Given the description of an element on the screen output the (x, y) to click on. 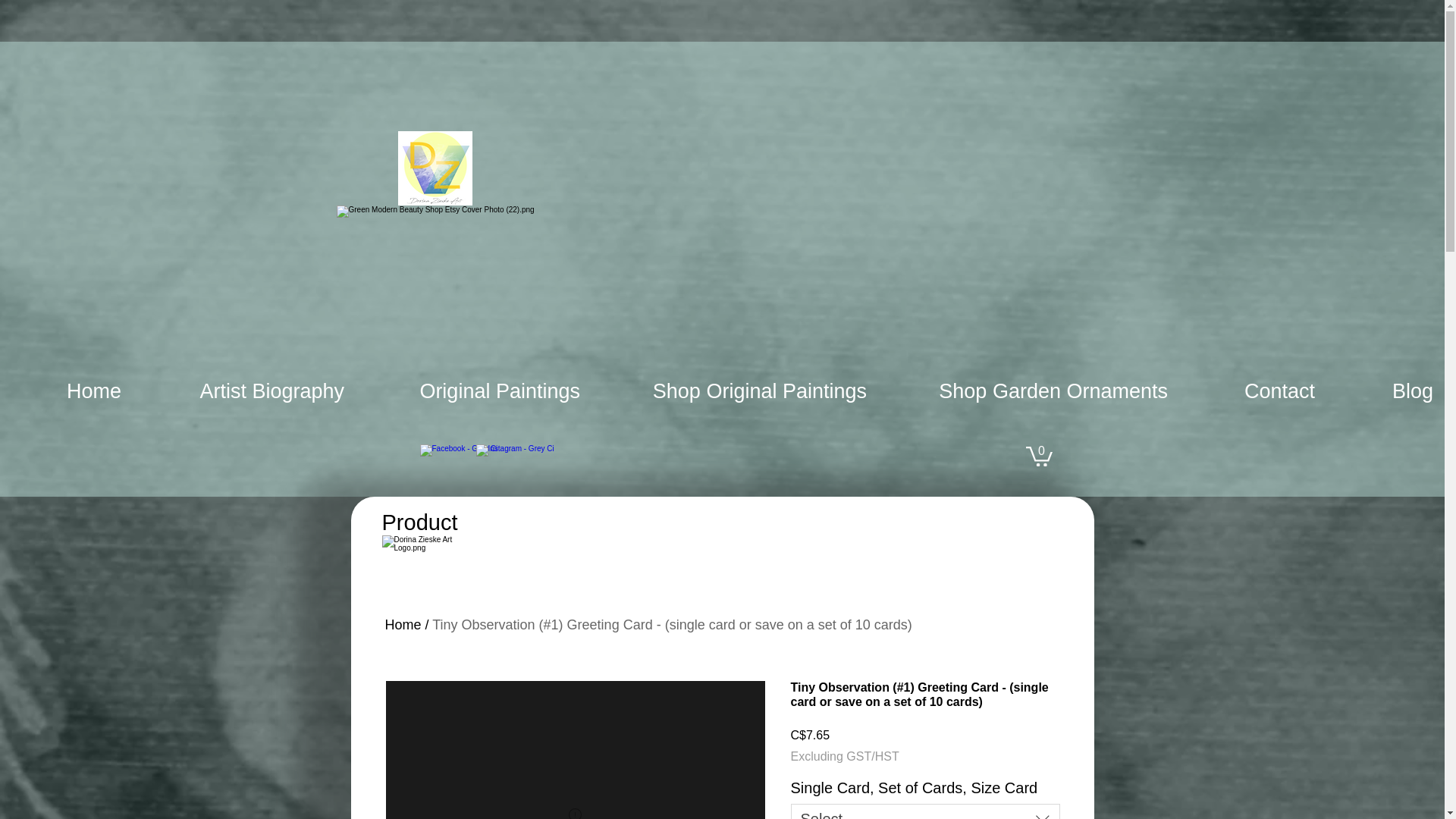
Original Paintings (473, 390)
Shop Garden Ornaments (1028, 390)
Artist Biography (243, 390)
Select (924, 811)
Home (66, 390)
0 (1038, 455)
Contact (1252, 390)
0 (1038, 455)
Shop Original Paintings (734, 390)
Home (403, 624)
